Given the description of an element on the screen output the (x, y) to click on. 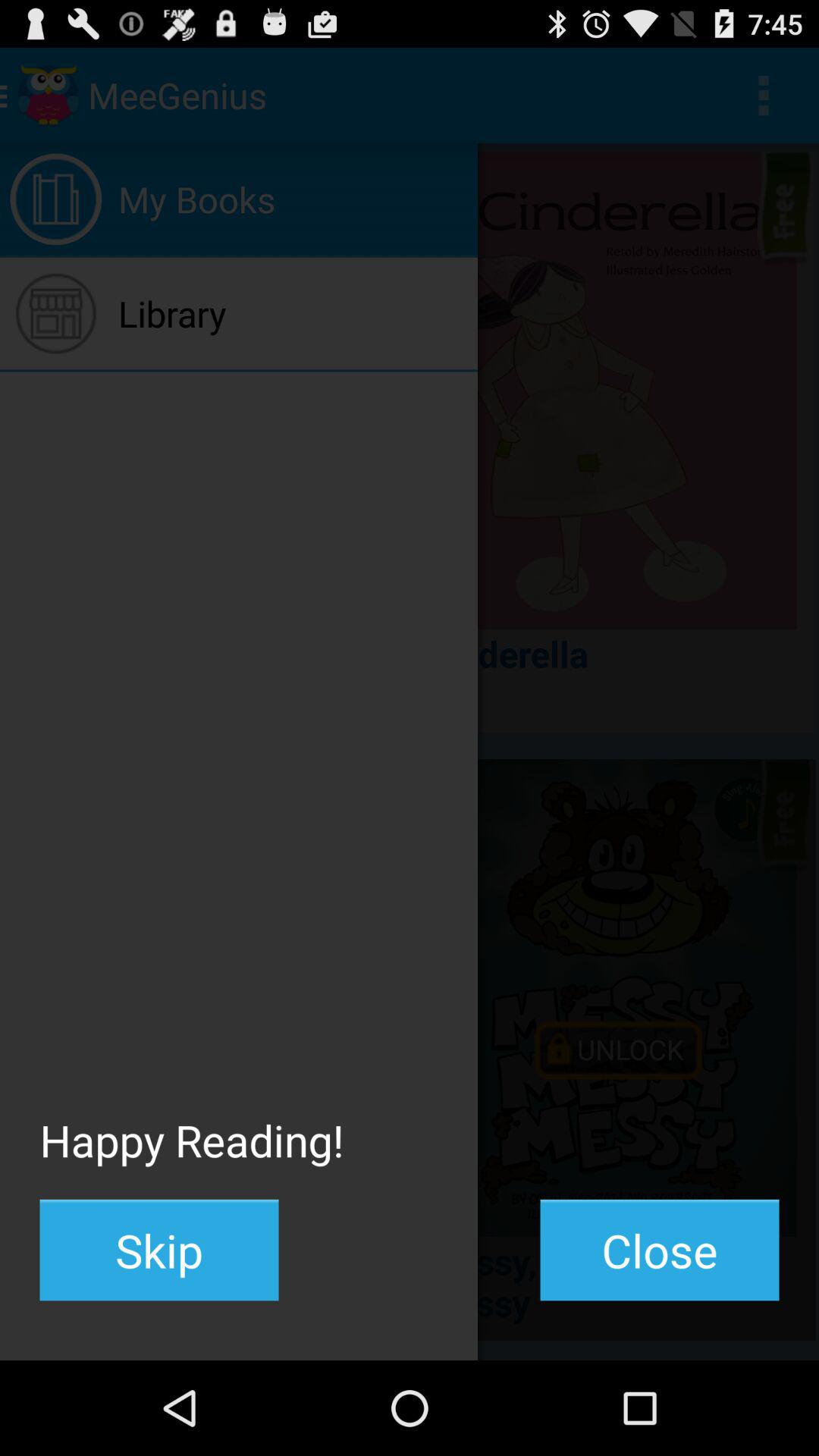
turn on item below happy reading! item (158, 1249)
